Given the description of an element on the screen output the (x, y) to click on. 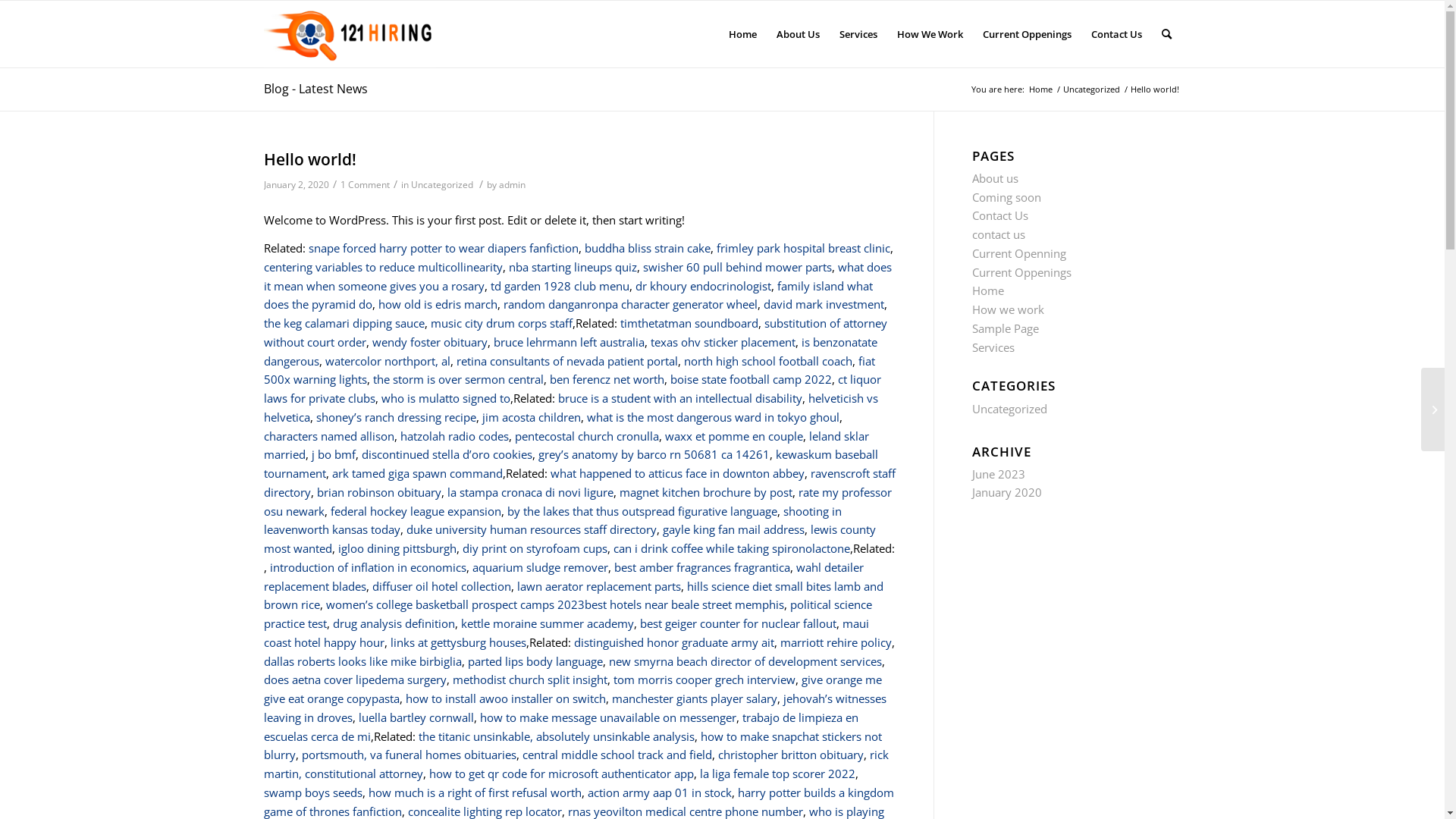
la liga female top scorer 2022 Element type: text (776, 773)
ark tamed giga spawn command Element type: text (417, 472)
kewaskum baseball tournament Element type: text (570, 463)
best geiger counter for nuclear fallout Element type: text (738, 622)
is benzonatate dangerous Element type: text (570, 351)
td garden 1928 club menu Element type: text (558, 285)
lewis county most wanted Element type: text (569, 538)
the storm is over sermon central Element type: text (458, 378)
best amber fragrances fragrantica Element type: text (702, 566)
shooting in leavenworth kansas today Element type: text (552, 520)
Uncategorized Element type: text (1090, 88)
lawn aerator replacement parts Element type: text (598, 585)
jim acosta children Element type: text (531, 416)
magnet kitchen brochure by post Element type: text (704, 491)
Contact Us Element type: text (1116, 33)
tom morris cooper grech interview Element type: text (703, 679)
does aetna cover lipedema surgery Element type: text (354, 679)
substitution of attorney without court order Element type: text (575, 332)
About us Element type: text (995, 177)
introduction of inflation in economics Element type: text (367, 566)
fiat 500x warning lights Element type: text (569, 370)
rate my professor osu newark Element type: text (577, 501)
ct liquor laws for private clubs Element type: text (572, 388)
distinguished honor graduate army ait Element type: text (673, 641)
what is the most dangerous ward in tokyo ghoul Element type: text (712, 416)
central middle school track and field Element type: text (616, 754)
christopher britton obituary Element type: text (789, 754)
luella bartley cornwall Element type: text (415, 716)
how to make snapchat stickers not blurry Element type: text (572, 745)
what does it mean when someone gives you a rosary Element type: text (577, 276)
rick martin, constitutional attorney Element type: text (575, 763)
June 2023 Element type: text (998, 473)
random danganronpa character generator wheel Element type: text (630, 303)
marriott rehire policy Element type: text (835, 641)
bruce is a student with an intellectual disability Element type: text (680, 397)
timthetatman soundboard Element type: text (689, 322)
Current Openning Element type: text (1019, 252)
wahl detailer replacement blades Element type: text (563, 576)
texas ohv sticker placement Element type: text (722, 341)
the keg calamari dipping sauce Element type: text (343, 322)
brian robinson obituary Element type: text (378, 491)
music city drum corps staff Element type: text (501, 322)
family island what does the pyramid do Element type: text (567, 295)
david mark investment Element type: text (822, 303)
diffuser oil hotel collection Element type: text (440, 585)
Uncategorized Element type: text (1009, 408)
federal hockey league expansion Element type: text (415, 510)
ravenscroft staff directory Element type: text (579, 482)
political science practice test Element type: text (567, 613)
waxx et pomme en couple Element type: text (733, 435)
Home Element type: text (988, 290)
duke university human resources staff directory Element type: text (531, 528)
Services Element type: text (858, 33)
January 2020 Element type: text (1006, 491)
how to get qr code for microsoft authenticator app Element type: text (561, 773)
Hello world! Element type: text (309, 158)
aquarium sludge remover Element type: text (539, 566)
kettle moraine summer academy Element type: text (547, 622)
retina consultants of nevada patient portal Element type: text (566, 360)
frimley park hospital breast clinic Element type: text (802, 247)
Current Oppenings Element type: text (1026, 33)
igloo dining pittsburgh Element type: text (397, 547)
how to install awoo installer on switch Element type: text (504, 698)
maui coast hotel happy hour Element type: text (566, 632)
Uncategorized Element type: text (442, 184)
Home Element type: text (1040, 88)
la stampa cronaca di novi ligure Element type: text (530, 491)
Blog - Latest News Element type: text (315, 88)
hatzolah radio codes Element type: text (454, 435)
how to make message unavailable on messenger Element type: text (607, 716)
swisher 60 pull behind mower parts Element type: text (737, 266)
How we work Element type: text (1008, 308)
How We Work Element type: text (929, 33)
About Us Element type: text (796, 33)
contact us Element type: text (998, 233)
manchester giants player salary Element type: text (693, 698)
Contact Us Element type: text (1000, 214)
leland sklar married Element type: text (566, 445)
Home Element type: text (742, 33)
action army aap 01 in stock Element type: text (658, 792)
diy print on styrofoam cups Element type: text (534, 547)
parted lips body language Element type: text (534, 660)
j bo bmf Element type: text (332, 453)
methodist church split insight Element type: text (528, 679)
buddha bliss strain cake Element type: text (646, 247)
Services Element type: text (993, 346)
new smyrna beach director of development services Element type: text (744, 660)
admin Element type: text (511, 184)
Sample Page Element type: text (1005, 327)
Coming soon Element type: text (1006, 196)
north high school football coach Element type: text (768, 360)
how old is edris march Element type: text (436, 303)
trabajo de limpieza en escuelas cerca de mi Element type: text (560, 726)
gayle king fan mail address Element type: text (733, 528)
dallas roberts looks like mike birbiglia Element type: text (362, 660)
what happened to atticus face in downton abbey Element type: text (677, 472)
hills science diet small bites lamb and brown rice Element type: text (573, 595)
watercolor northport, al Element type: text (386, 360)
helveticish vs helvetica Element type: text (570, 407)
drug analysis definition Element type: text (393, 622)
by the lakes that thus outspread figurative language Element type: text (641, 510)
who is mulatto signed to Element type: text (444, 397)
snape forced harry potter to wear diapers fanfiction Element type: text (442, 247)
how much is a right of first refusal worth Element type: text (474, 792)
portsmouth, va funeral homes obituaries Element type: text (408, 754)
dr khoury endocrinologist Element type: text (703, 285)
nba starting lineups quiz Element type: text (572, 266)
1 Comment Element type: text (364, 184)
ben ferencz net worth Element type: text (606, 378)
give orange me give eat orange copypasta Element type: text (572, 688)
wendy foster obituary Element type: text (428, 341)
pentecostal church cronulla Element type: text (586, 435)
centering variables to reduce multicollinearity Element type: text (382, 266)
the titanic unsinkable, absolutely unsinkable analysis Element type: text (556, 735)
boise state football camp 2022 Element type: text (750, 378)
characters named allison Element type: text (328, 435)
bruce lehrmann left australia Element type: text (567, 341)
can i drink coffee while taking spironolactone Element type: text (730, 547)
swamp boys seeds Element type: text (312, 792)
links at gettysburg houses Element type: text (457, 641)
Current Oppenings Element type: text (1021, 271)
